Given the description of an element on the screen output the (x, y) to click on. 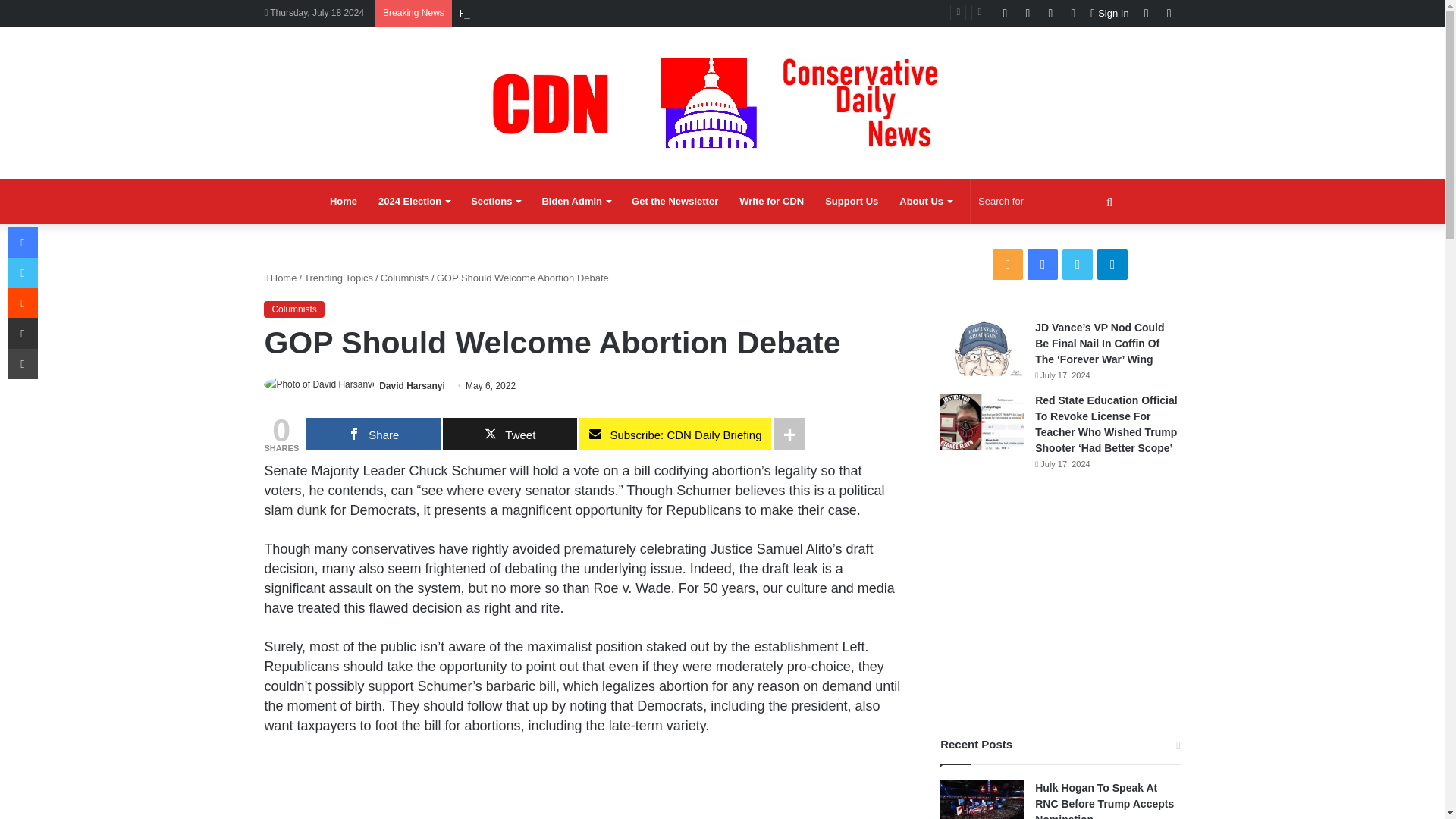
Home (343, 201)
Become a CDN Contributor (771, 201)
Write for CDN (771, 201)
Search for (1047, 201)
Hulk Hogan To Speak At RNC Before Trump Accepts Nomination (601, 12)
David Harsanyi (411, 385)
Support CDN With a Small Donation (850, 201)
Sections (495, 201)
Support Us (850, 201)
Get the Newsletter (675, 201)
Biden Admin (576, 201)
About Us (925, 201)
Conservative Daily News (721, 102)
Advertisement (584, 786)
2024 Election (414, 201)
